Given the description of an element on the screen output the (x, y) to click on. 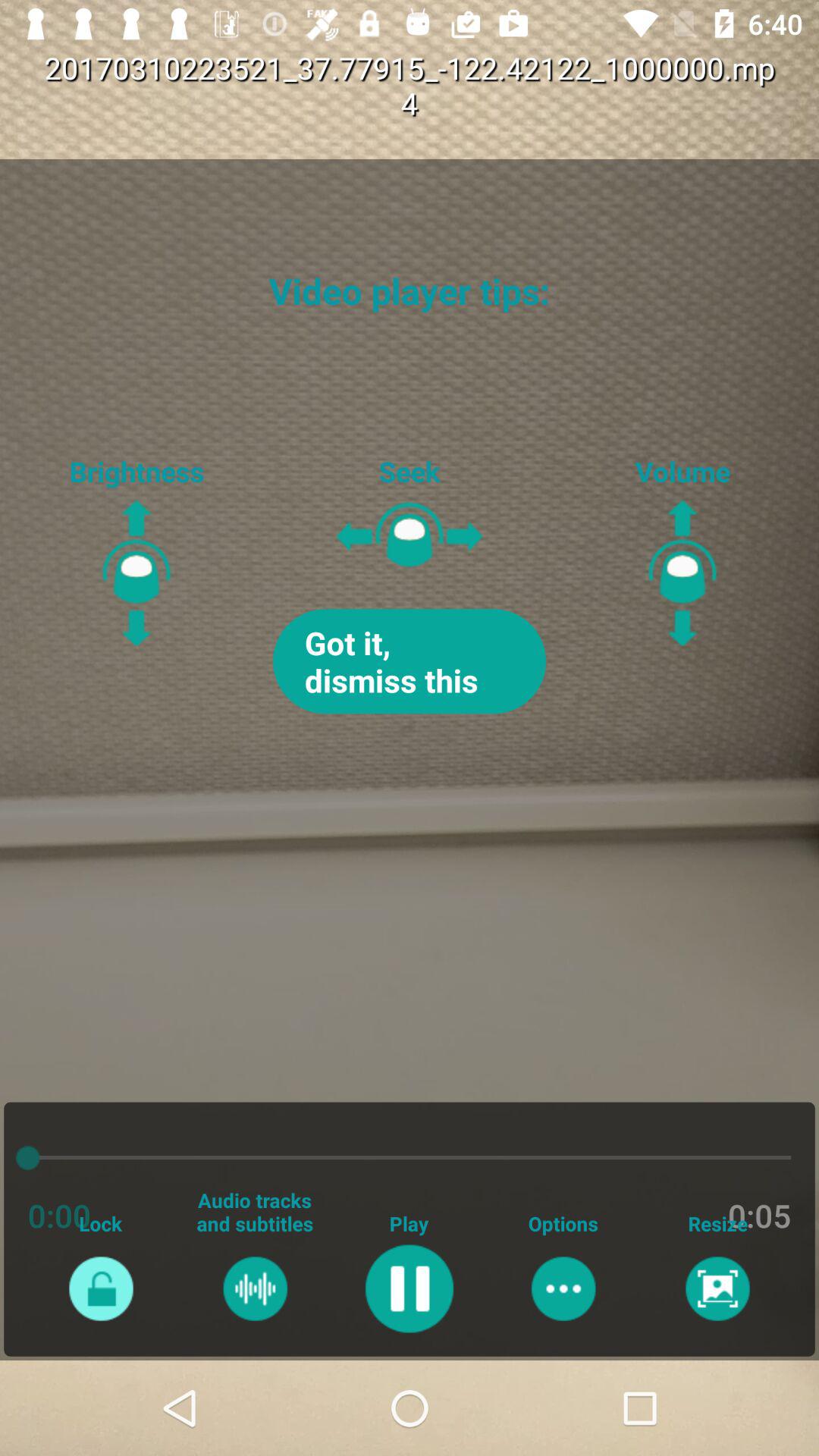
lock rotation (100, 1288)
